Given the description of an element on the screen output the (x, y) to click on. 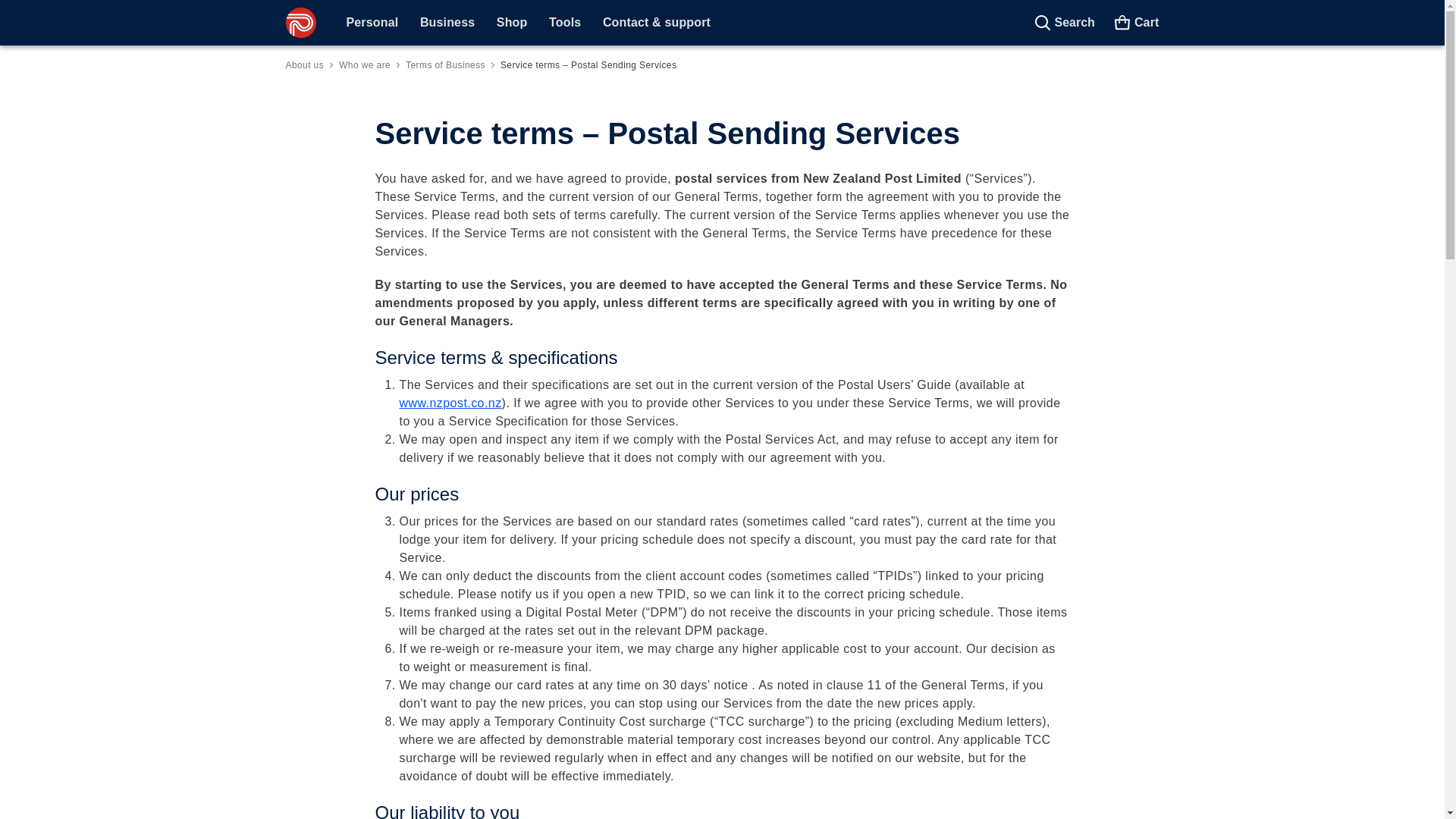
Shop (512, 22)
Business (446, 22)
Personal (371, 22)
Search (1063, 22)
Cart (1135, 22)
Tools (564, 22)
